Given the description of an element on the screen output the (x, y) to click on. 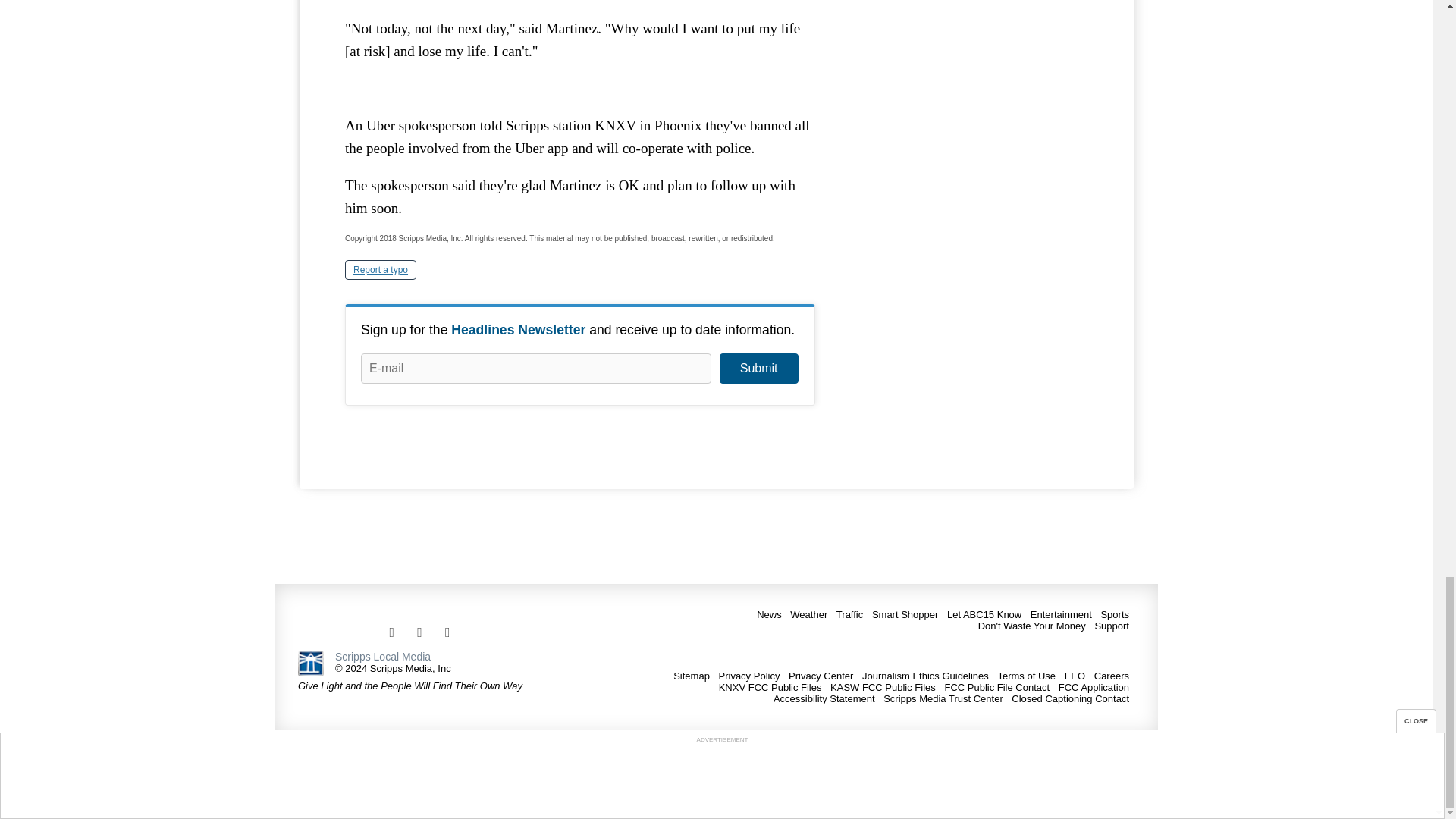
Submit (758, 368)
